Given the description of an element on the screen output the (x, y) to click on. 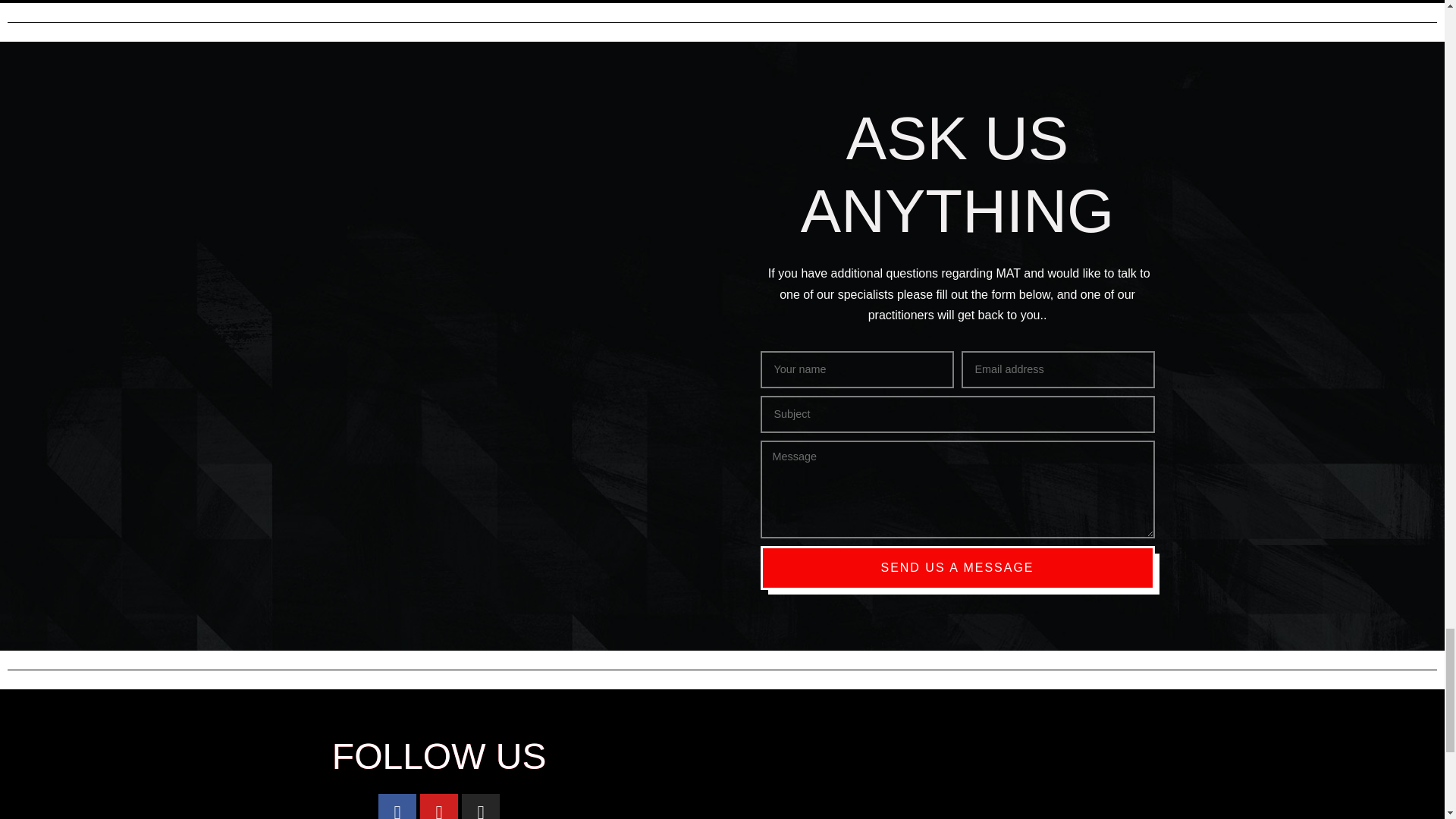
SEND US A MESSAGE (957, 567)
